Given the description of an element on the screen output the (x, y) to click on. 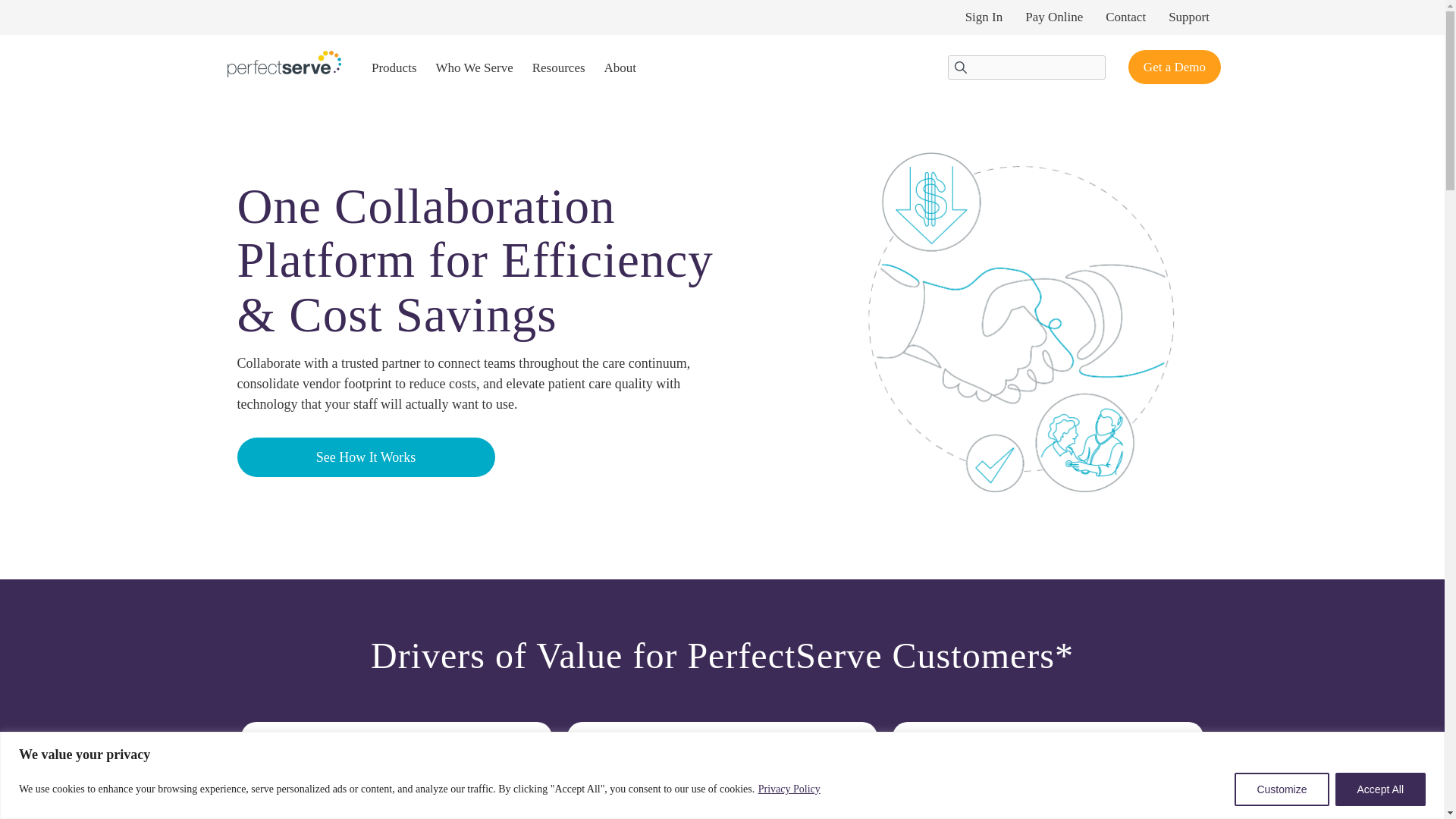
Sign In (983, 17)
Pay Online (1053, 17)
Products (394, 69)
Support (1189, 17)
Privacy Policy (789, 788)
About (619, 69)
Customize (1280, 788)
Who We Serve (474, 69)
Contact (1125, 17)
Get a Demo (1174, 66)
Get a Demo (1174, 66)
Resources (558, 69)
Accept All (1380, 788)
